Given the description of an element on the screen output the (x, y) to click on. 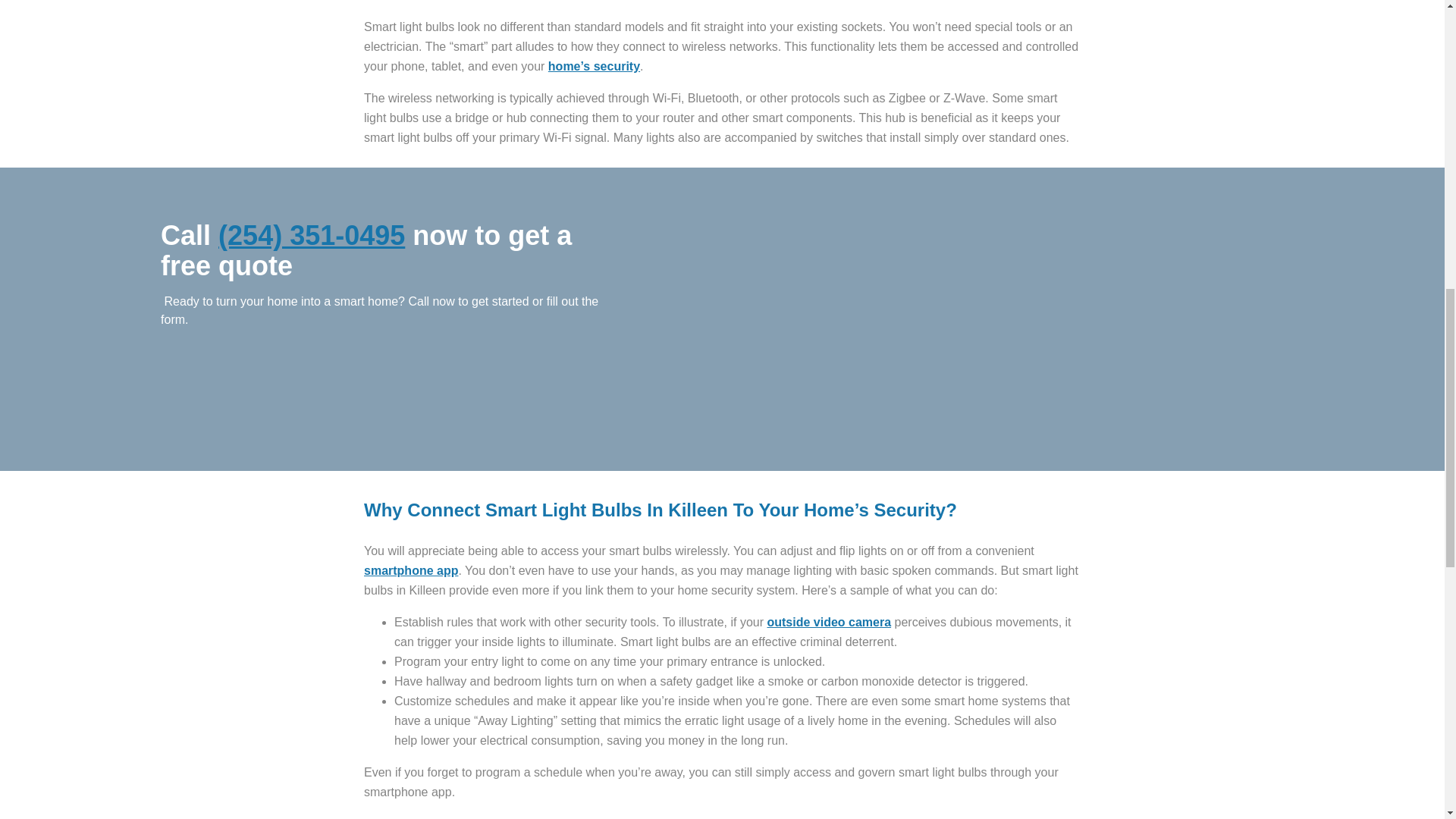
Smarthome app in Killeen (411, 570)
smartphone app (411, 570)
Home security system in Killeen (594, 65)
outside video camera (829, 621)
Outdoor surveillance system (829, 621)
